Given the description of an element on the screen output the (x, y) to click on. 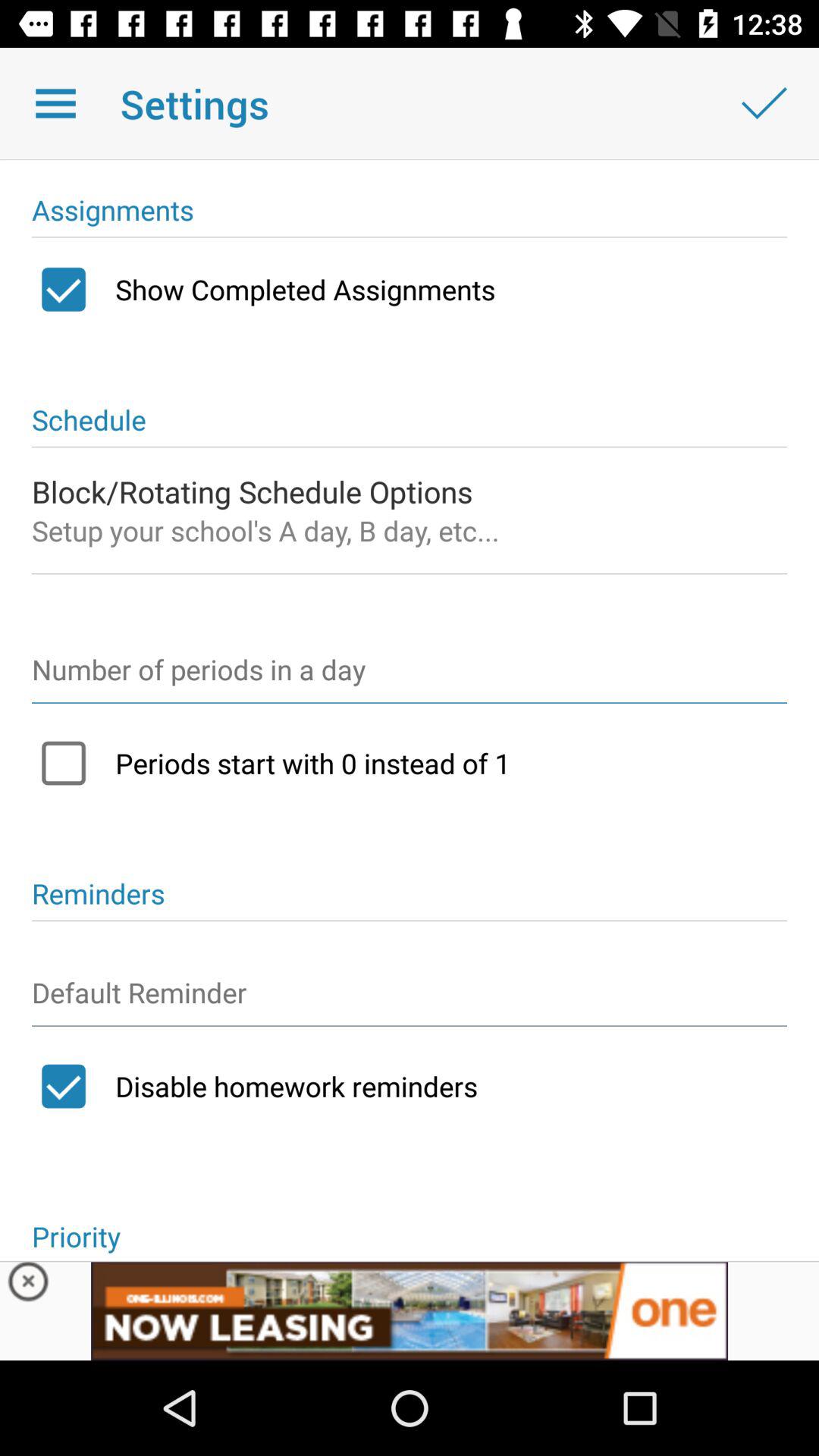
enter requested information (409, 676)
